Given the description of an element on the screen output the (x, y) to click on. 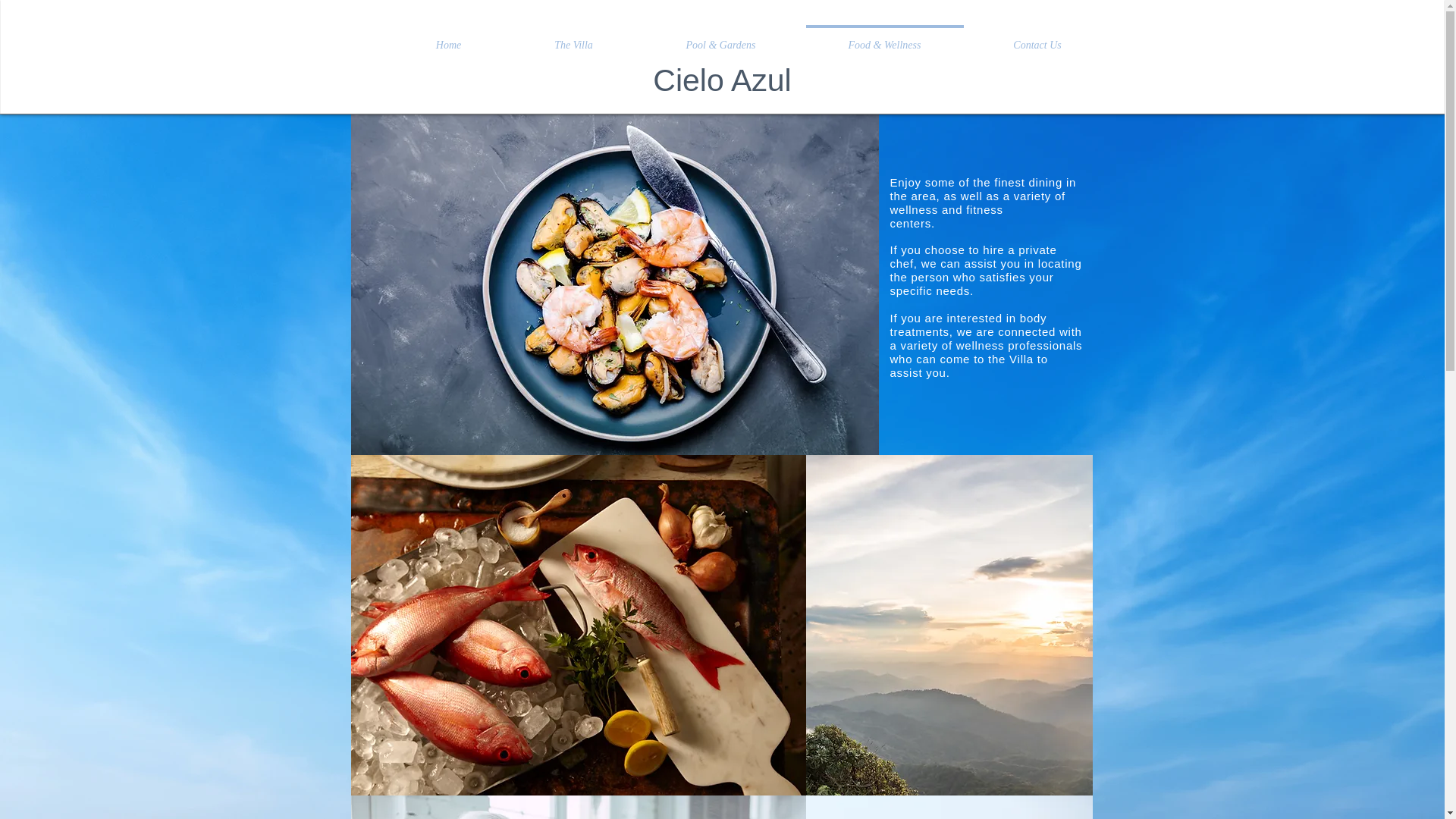
Contact Us (1038, 38)
Home (449, 38)
The Villa (574, 38)
